Given the description of an element on the screen output the (x, y) to click on. 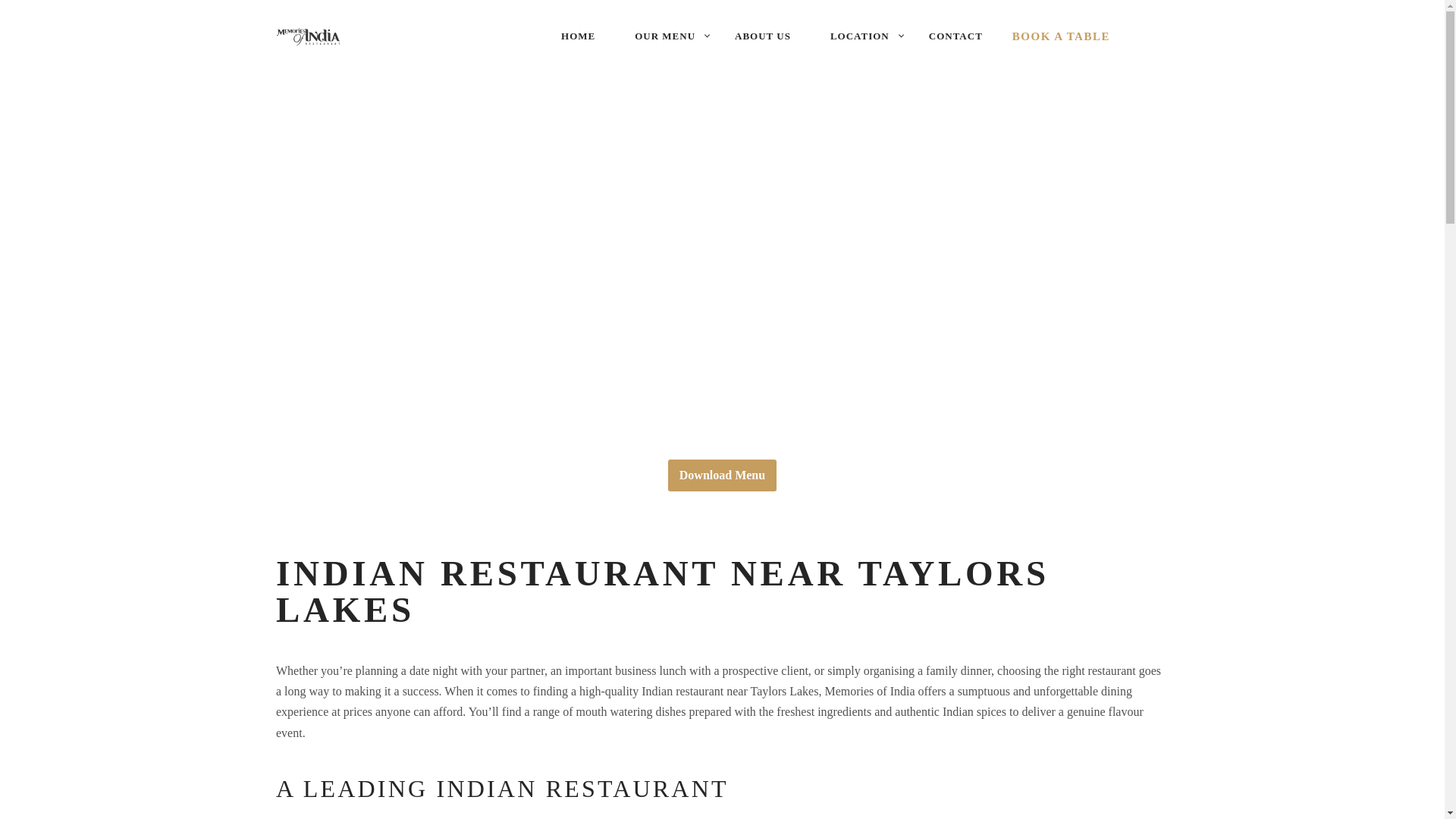
HOME Element type: text (577, 35)
Download Menu Element type: text (722, 475)
ABOUT US Element type: text (762, 35)
Memories of India Element type: hover (320, 36)
OUR MENU Element type: text (664, 35)
BOOK A TABLE Element type: text (1061, 36)
CONTACT Element type: text (955, 35)
LOCATION Element type: text (859, 35)
